Given the description of an element on the screen output the (x, y) to click on. 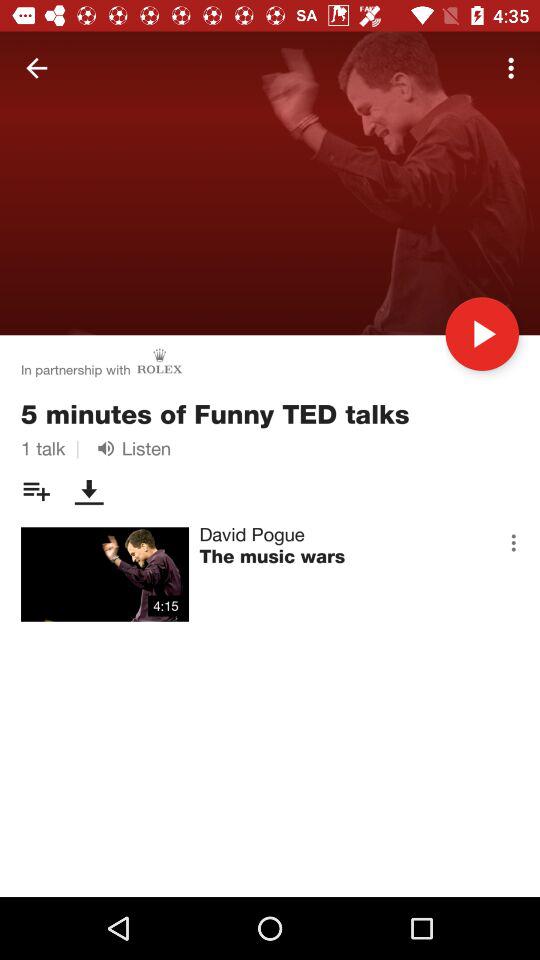
select the icon to the right of the | item (130, 448)
